Given the description of an element on the screen output the (x, y) to click on. 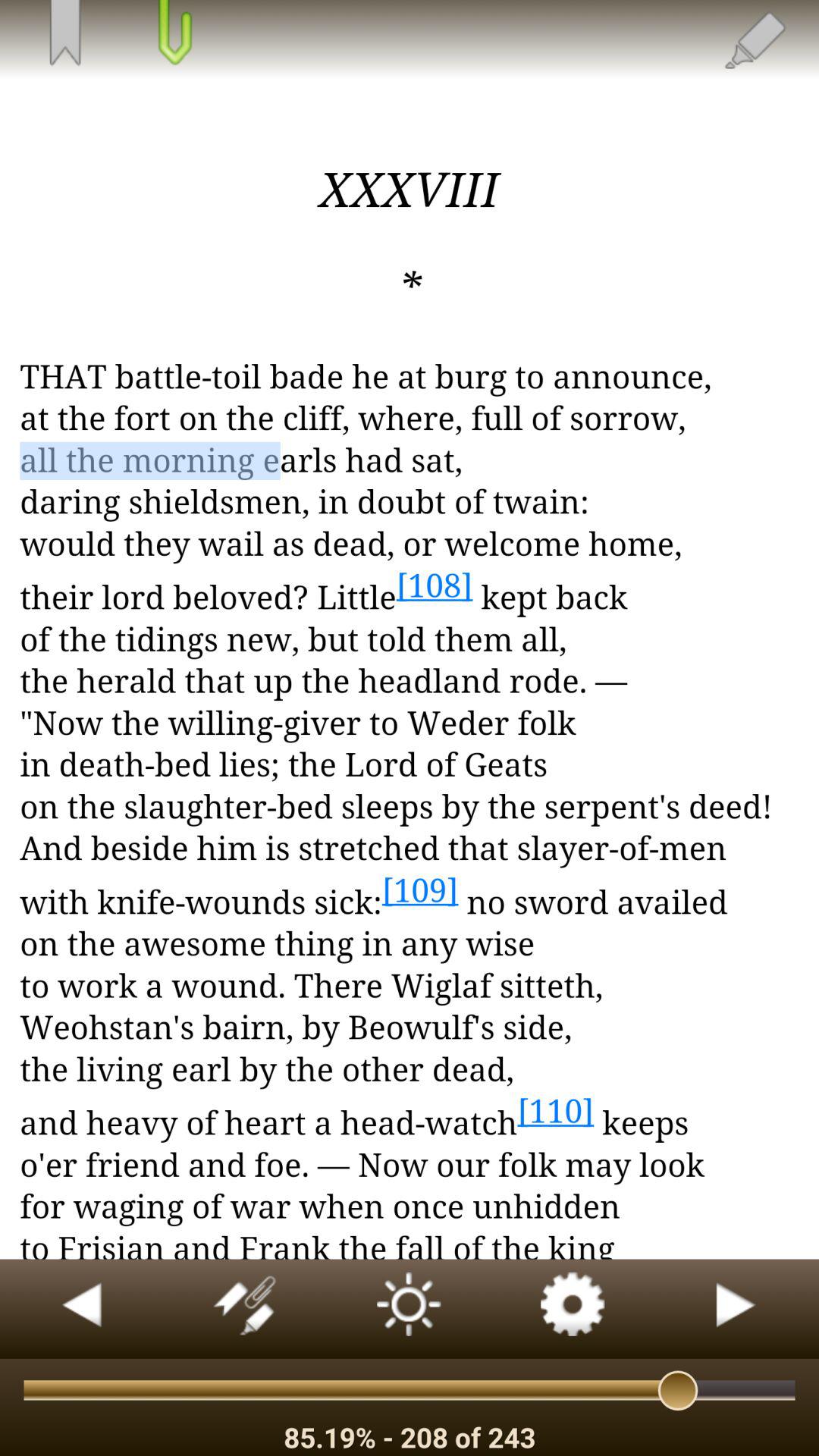
proceed to next (737, 1308)
